Given the description of an element on the screen output the (x, y) to click on. 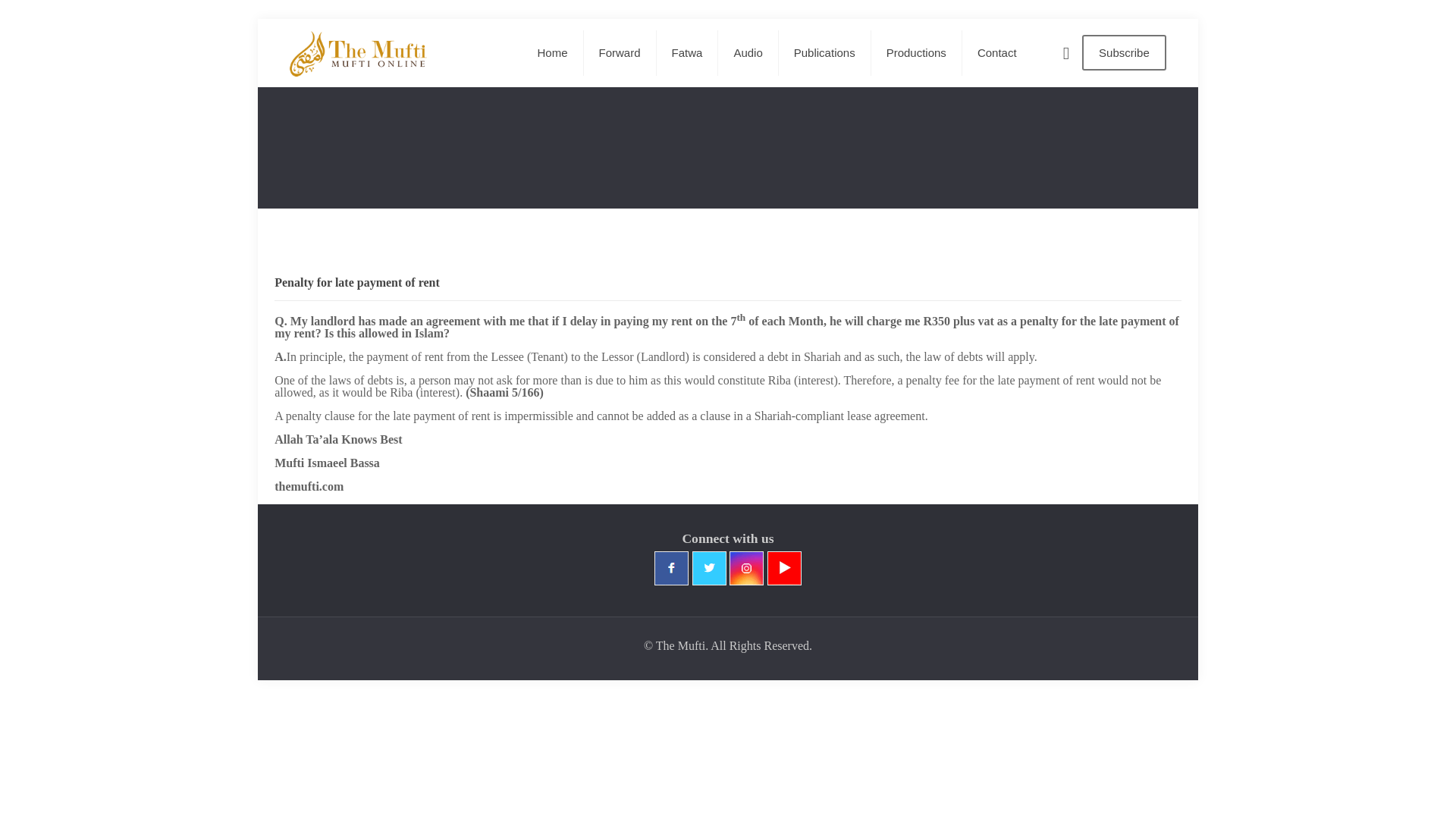
Fatwa (687, 52)
Home (552, 52)
Publications (824, 52)
Subscribe (1123, 52)
The Mufti (357, 52)
Contact (997, 52)
Productions (916, 52)
Forward (619, 52)
